Given the description of an element on the screen output the (x, y) to click on. 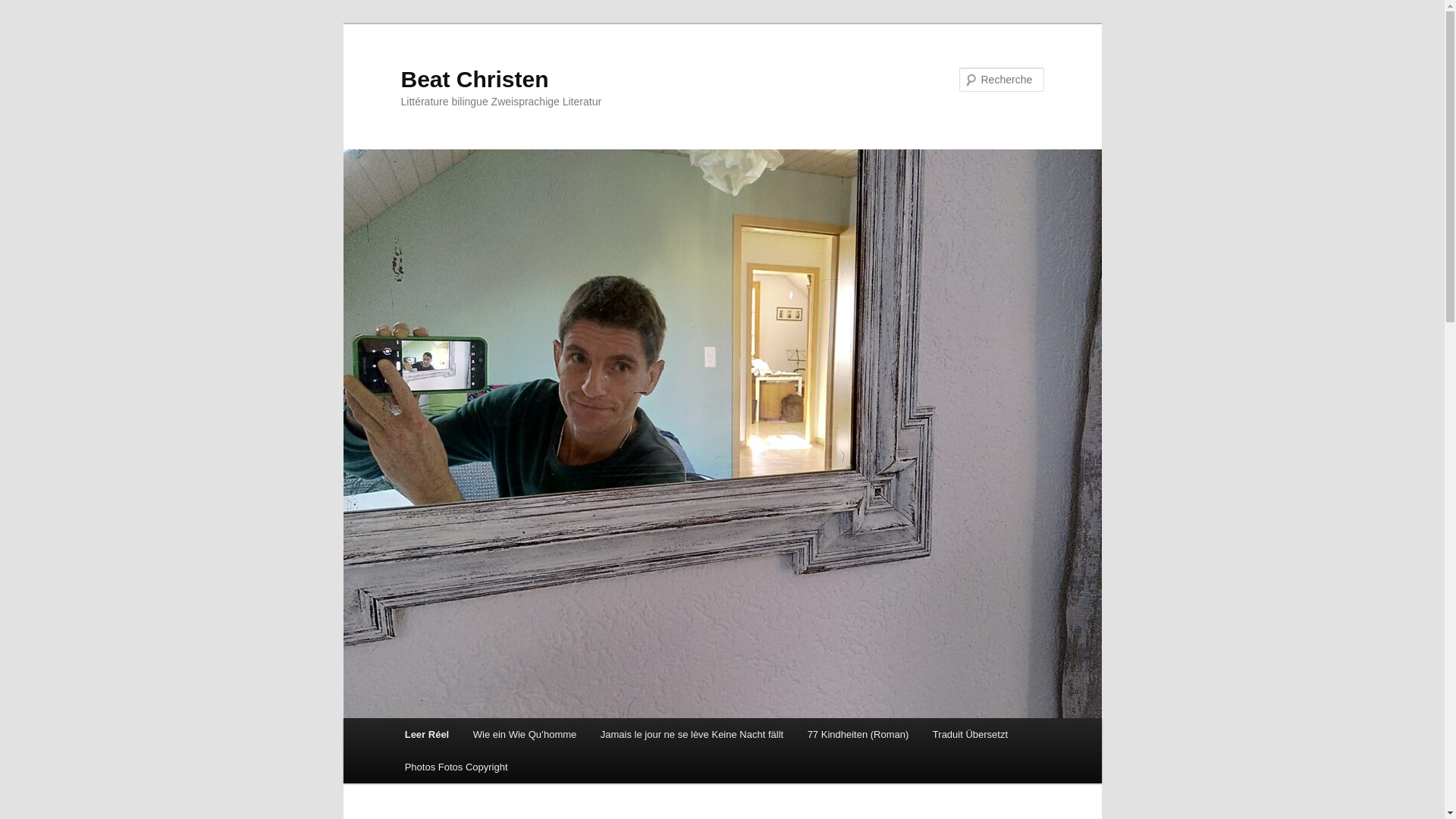
Photos Fotos Copyright Element type: text (455, 766)
77 Kindheiten (Roman) Element type: text (857, 734)
Recherche Element type: text (33, 8)
Beat Christen Element type: text (474, 78)
Aller au contenu principal Element type: text (22, 22)
